Given the description of an element on the screen output the (x, y) to click on. 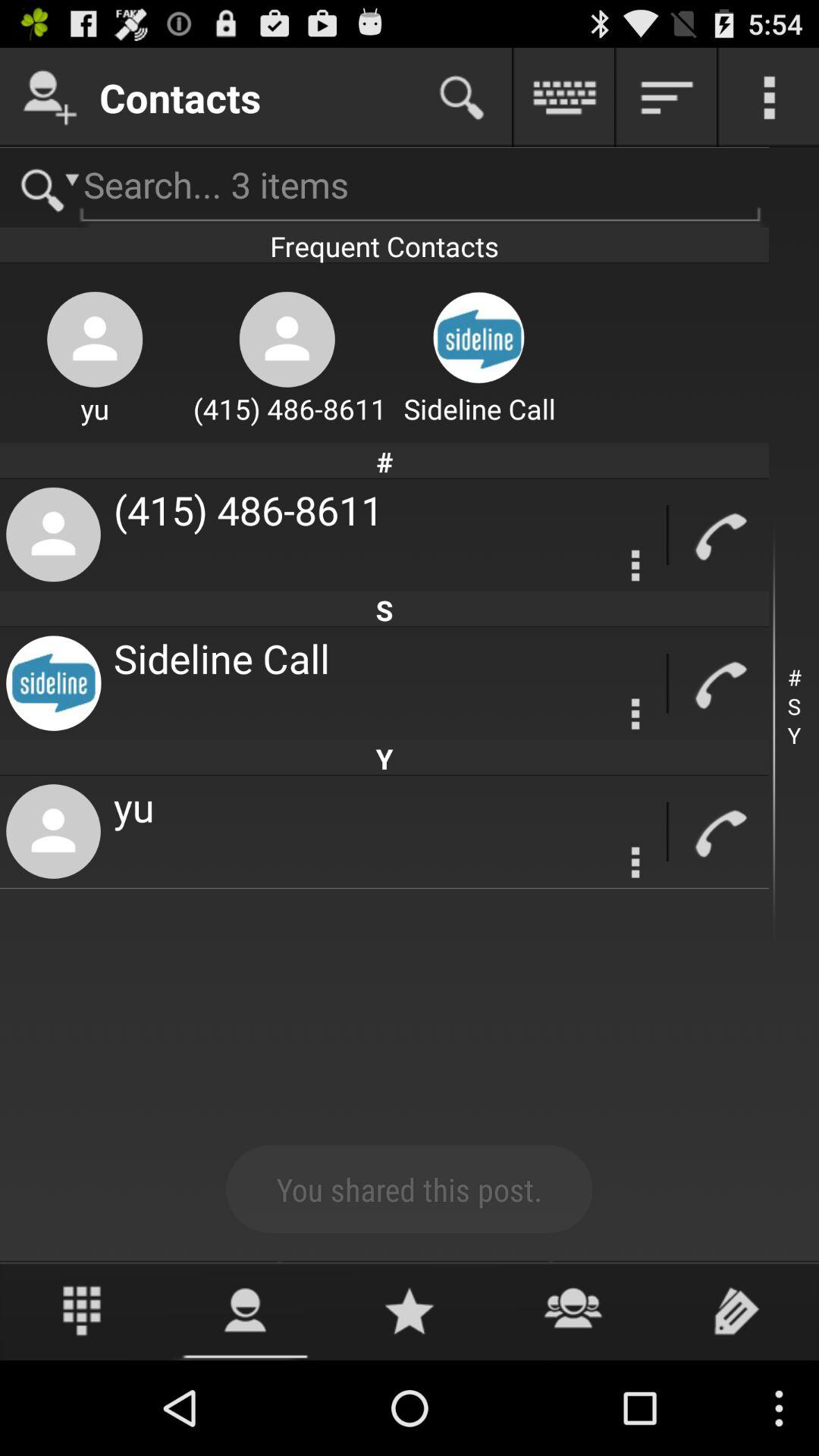
expand entry (635, 714)
